Given the description of an element on the screen output the (x, y) to click on. 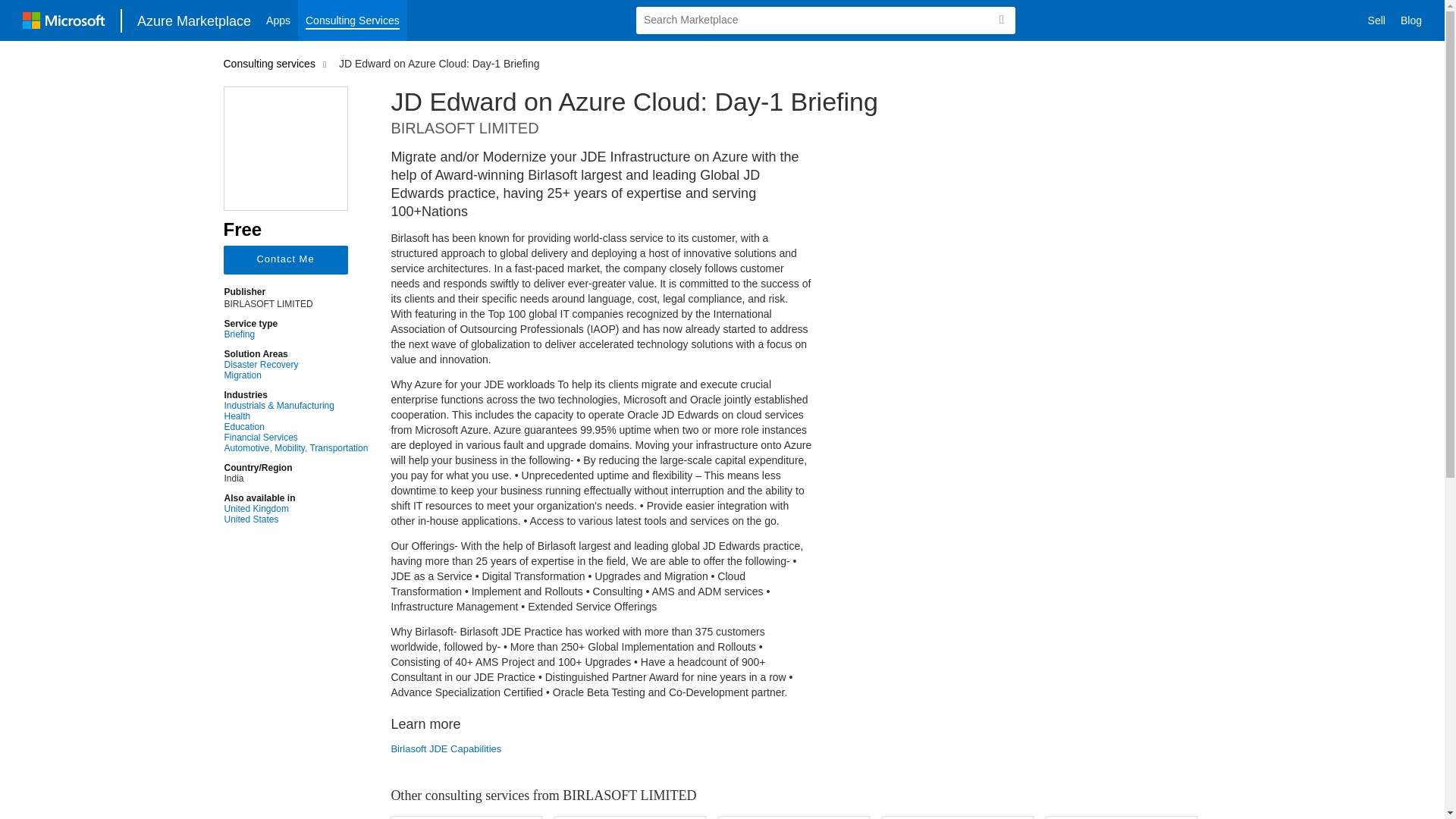
United Kingdom (296, 508)
Apps (278, 20)
Consulting services (271, 63)
Health (296, 416)
Consulting Services (352, 20)
Azure Marketplace (194, 20)
Migration (296, 375)
Disaster Recovery (296, 364)
Blog (1411, 20)
Financial Services (296, 437)
Education (296, 426)
Birlasoft JDE Capabilities (600, 748)
United States (296, 519)
Automotive, Mobility, Transportation (296, 448)
Search (1001, 19)
